Given the description of an element on the screen output the (x, y) to click on. 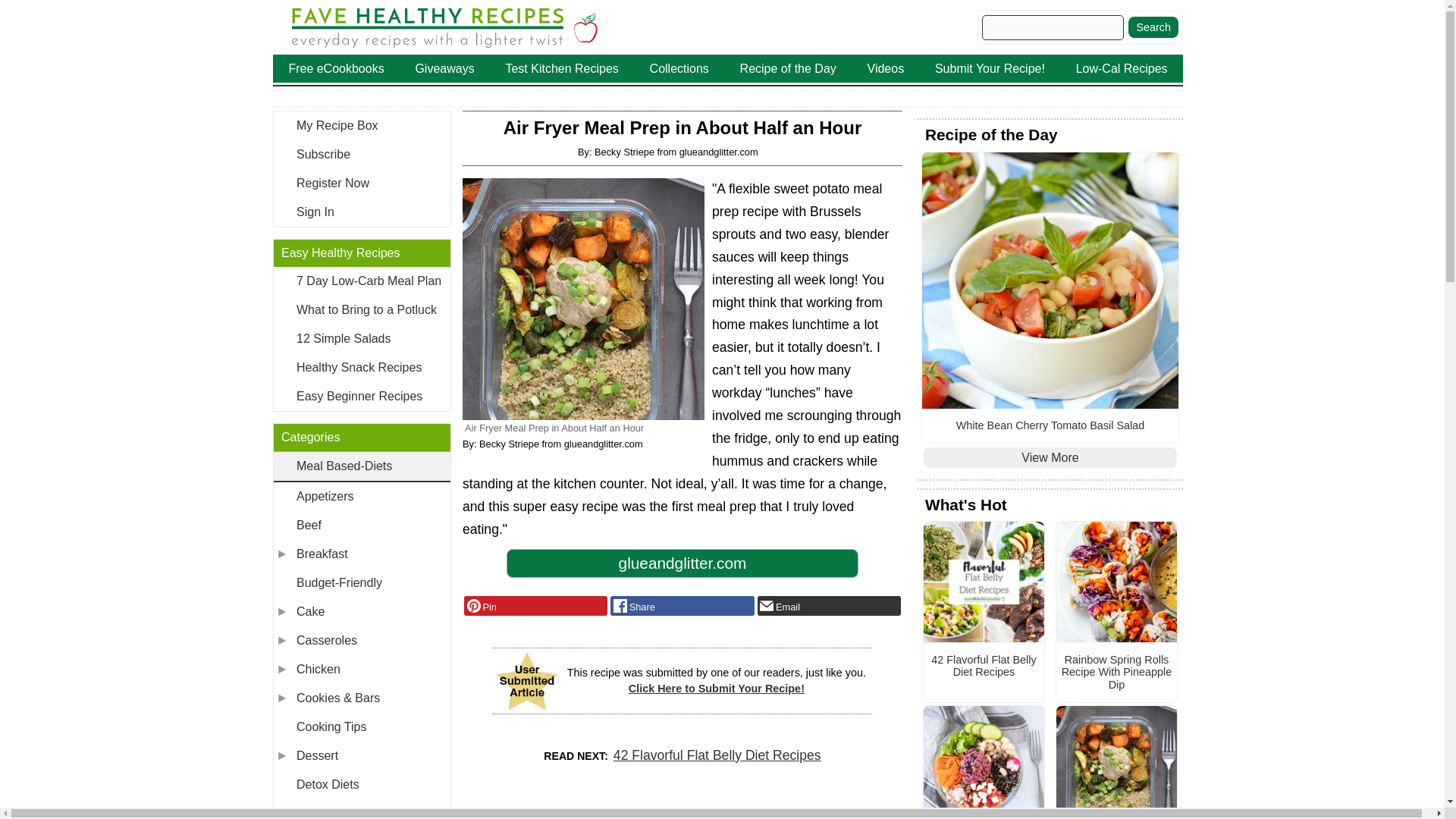
Air Fryer Meal Prep in About Half an Hour (583, 299)
Search (1152, 26)
Facebook (682, 605)
Email (829, 605)
Subscribe (361, 154)
My Recipe Box (361, 125)
Sign In (361, 212)
Register Now (361, 183)
